Given the description of an element on the screen output the (x, y) to click on. 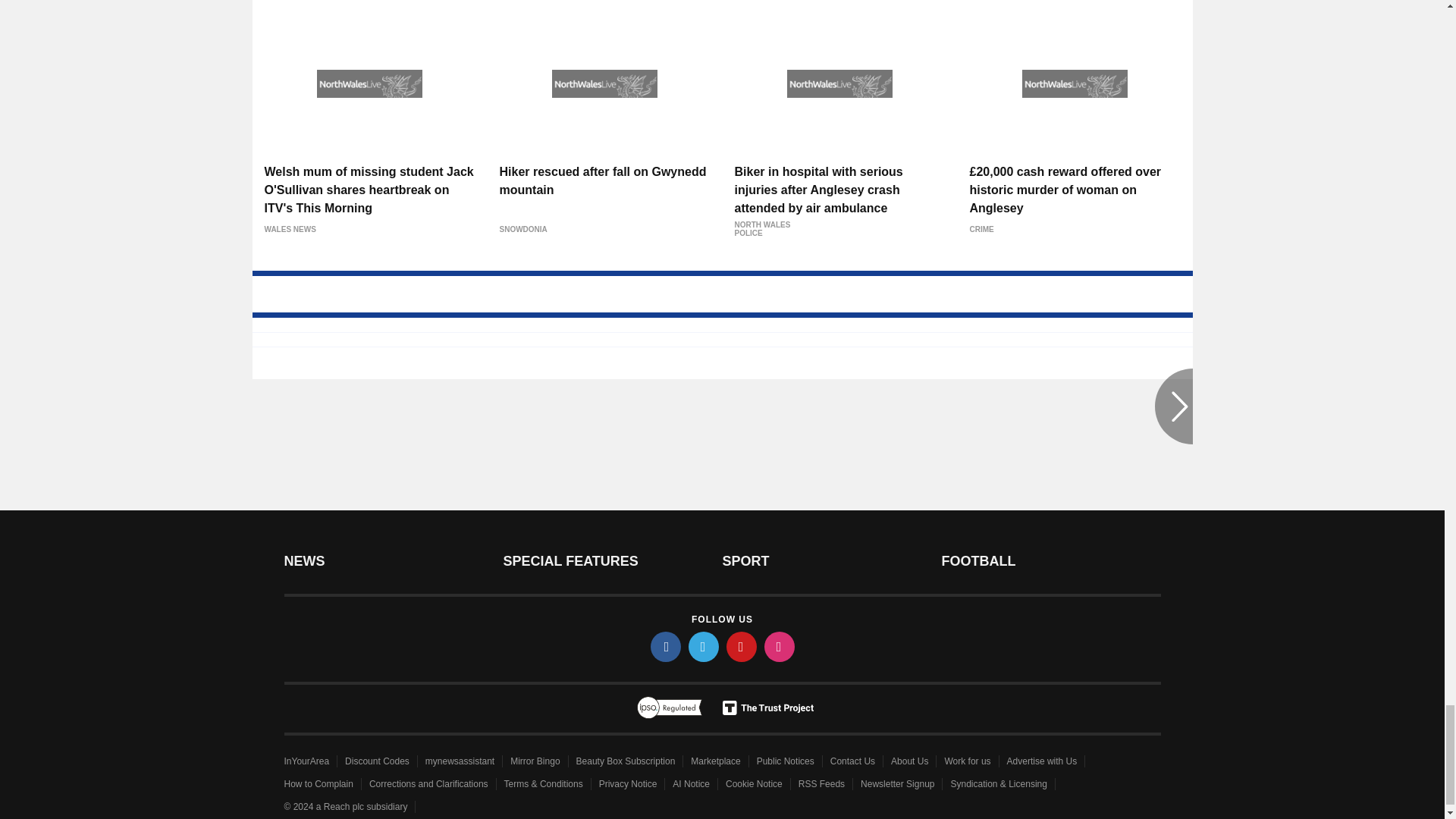
instagram (779, 646)
pinterest (741, 646)
facebook (665, 646)
twitter (703, 646)
